Given the description of an element on the screen output the (x, y) to click on. 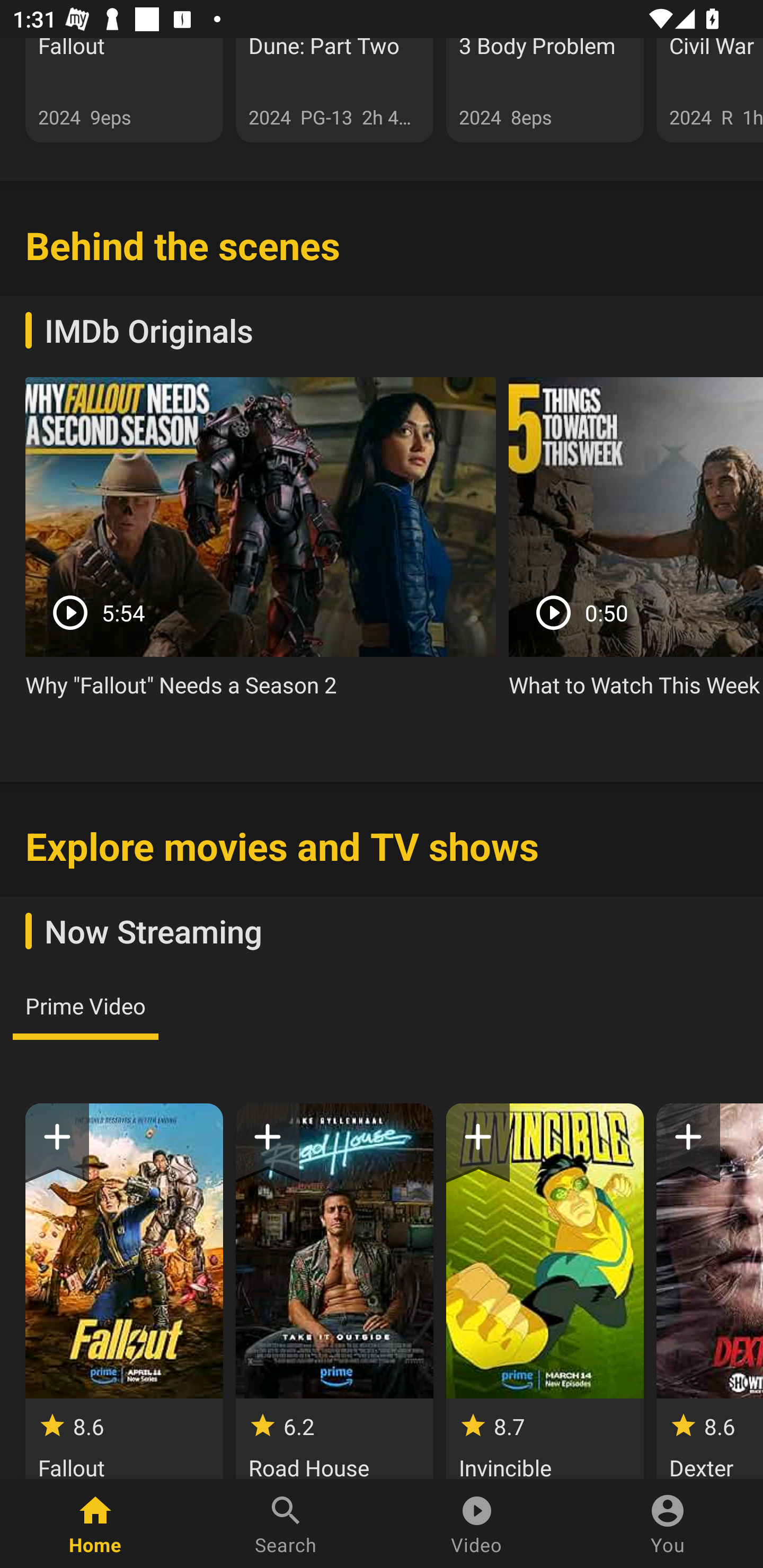
Fallout 2024  9eps (123, 89)
Dune: Part Two 2024  PG-13  2h 46m (334, 89)
3 Body Problem 2024  8eps (544, 89)
5:54 Why "Fallout" Needs a Season 2 (260, 544)
0:50 What to Watch This Week (635, 544)
Prime Video (85, 1005)
8.6 Fallout (123, 1290)
6.2 Road House (334, 1290)
8.7 Invincible (544, 1290)
Search (285, 1523)
Video (476, 1523)
You (667, 1523)
